Given the description of an element on the screen output the (x, y) to click on. 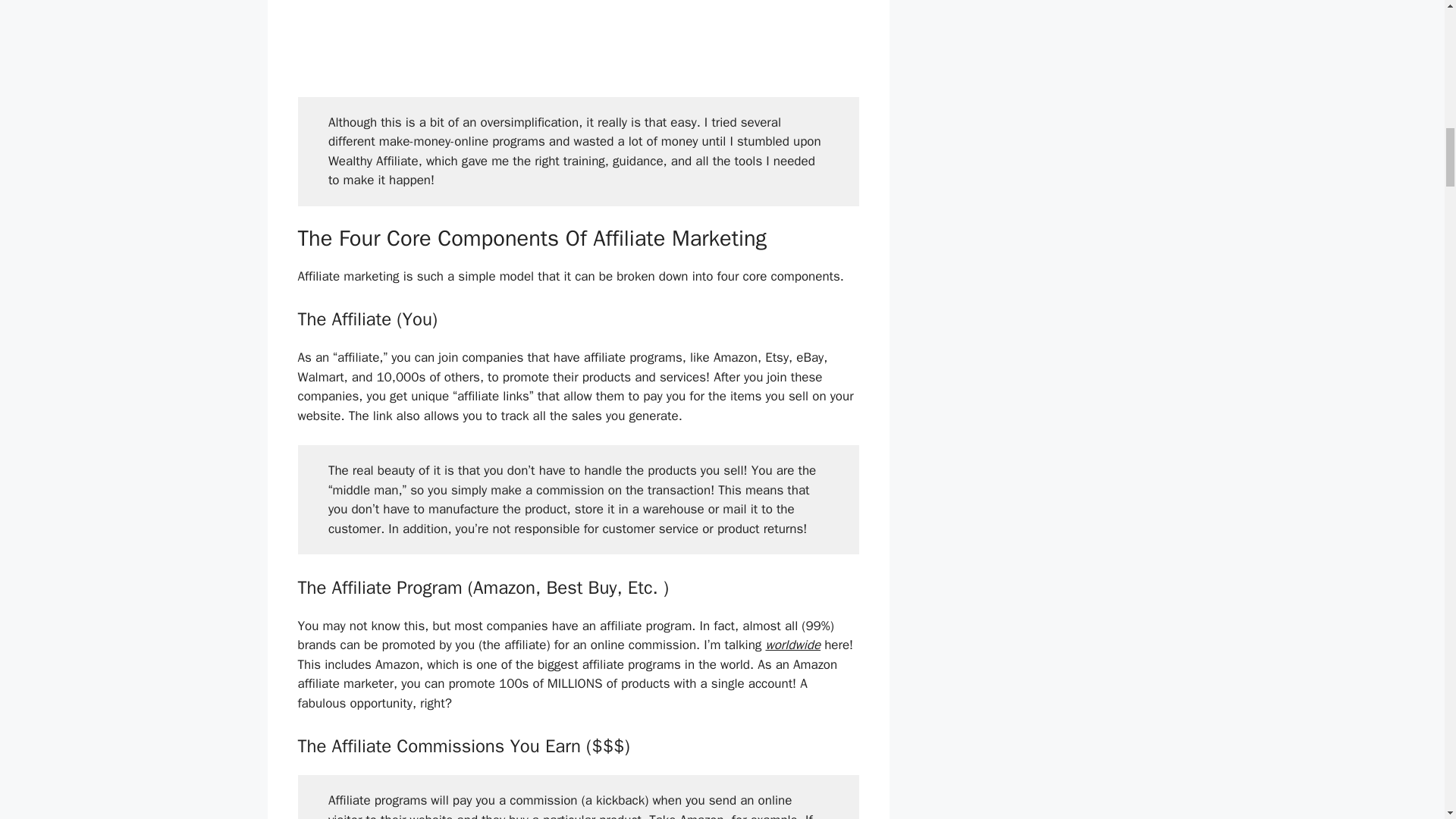
How Affiliate Marketing Works (576, 35)
